Given the description of an element on the screen output the (x, y) to click on. 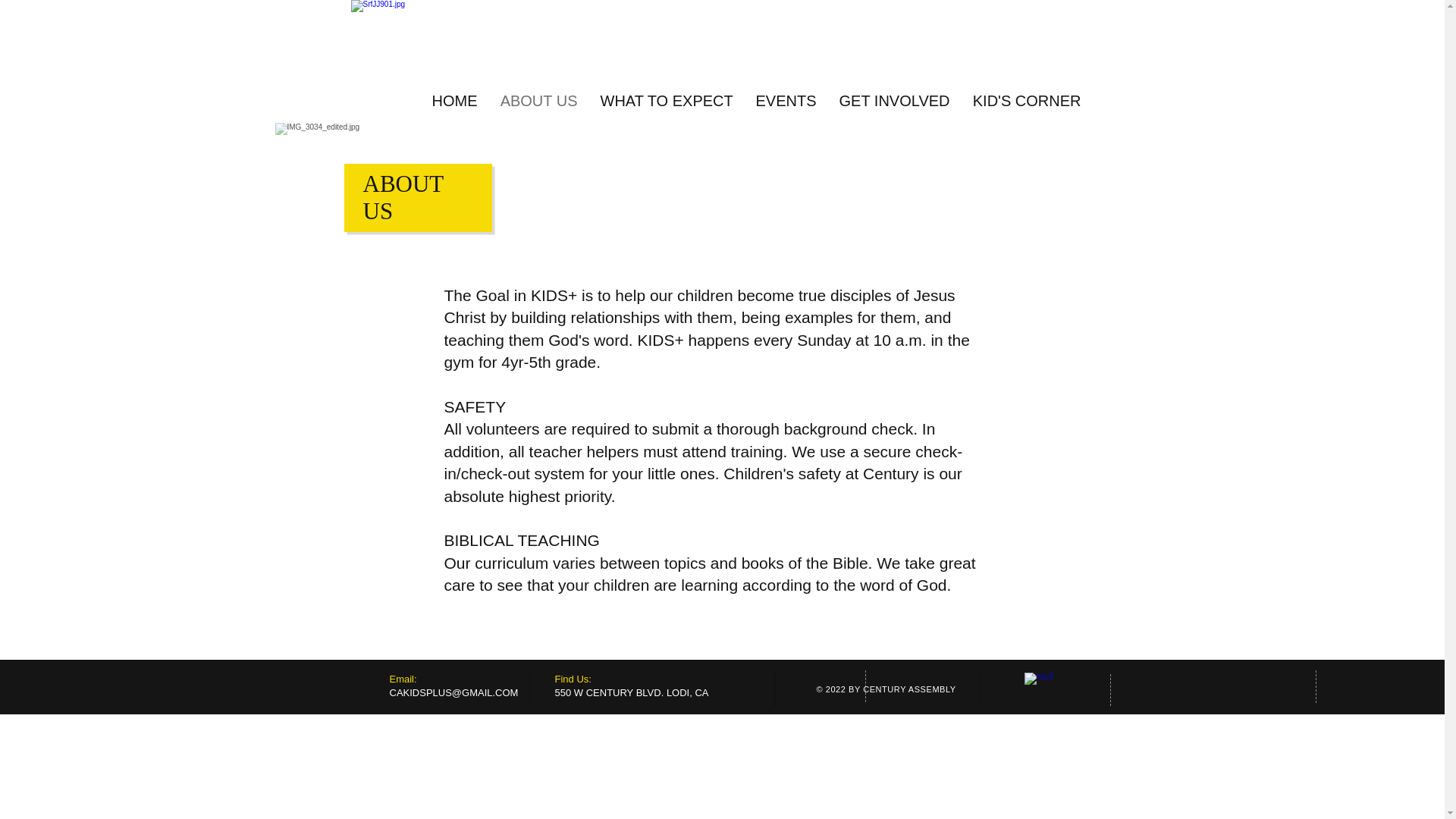
WHAT TO EXPECT (666, 99)
GET INVOLVED (894, 99)
KID'S CORNER (1026, 99)
EVENTS (786, 99)
ABOUT US (537, 99)
HOME (453, 99)
